Given the description of an element on the screen output the (x, y) to click on. 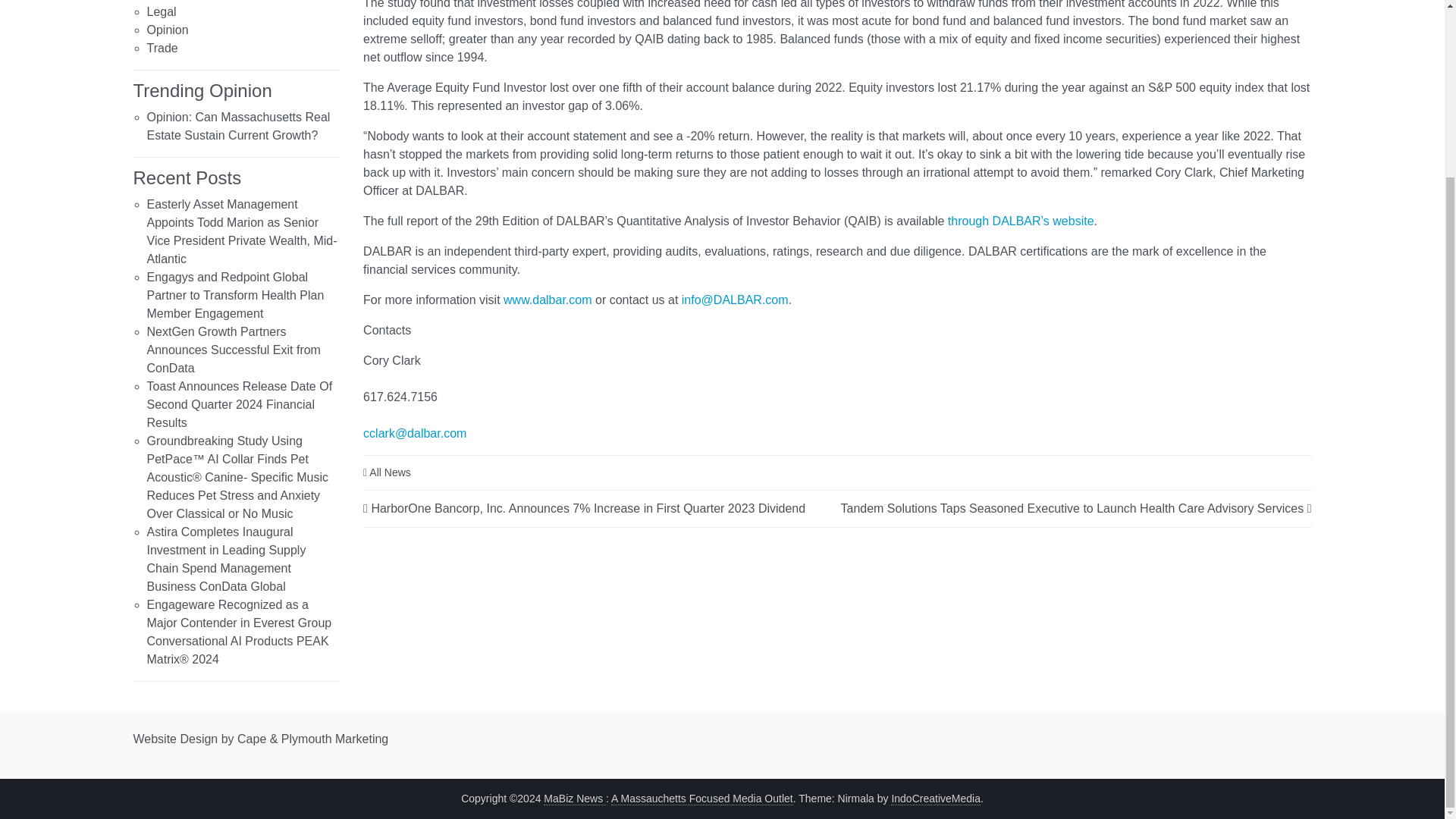
www.dalbar.com (547, 299)
Website Design (175, 738)
Trade (162, 47)
MaBiz News (574, 798)
A Massauchetts Focused Media Outlet (702, 798)
IndoCreativeMedia (935, 798)
All News (389, 472)
Opinion (168, 29)
Legal (161, 11)
